Given the description of an element on the screen output the (x, y) to click on. 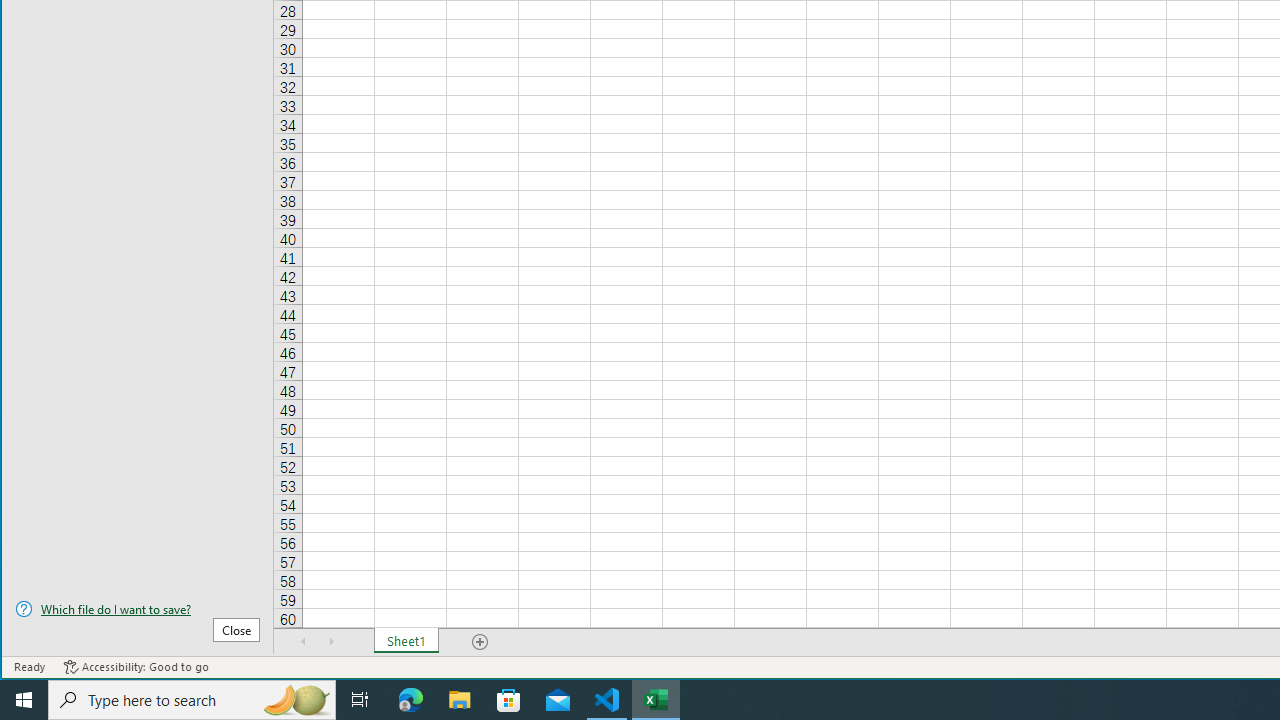
Excel - 1 running window (656, 699)
